Given the description of an element on the screen output the (x, y) to click on. 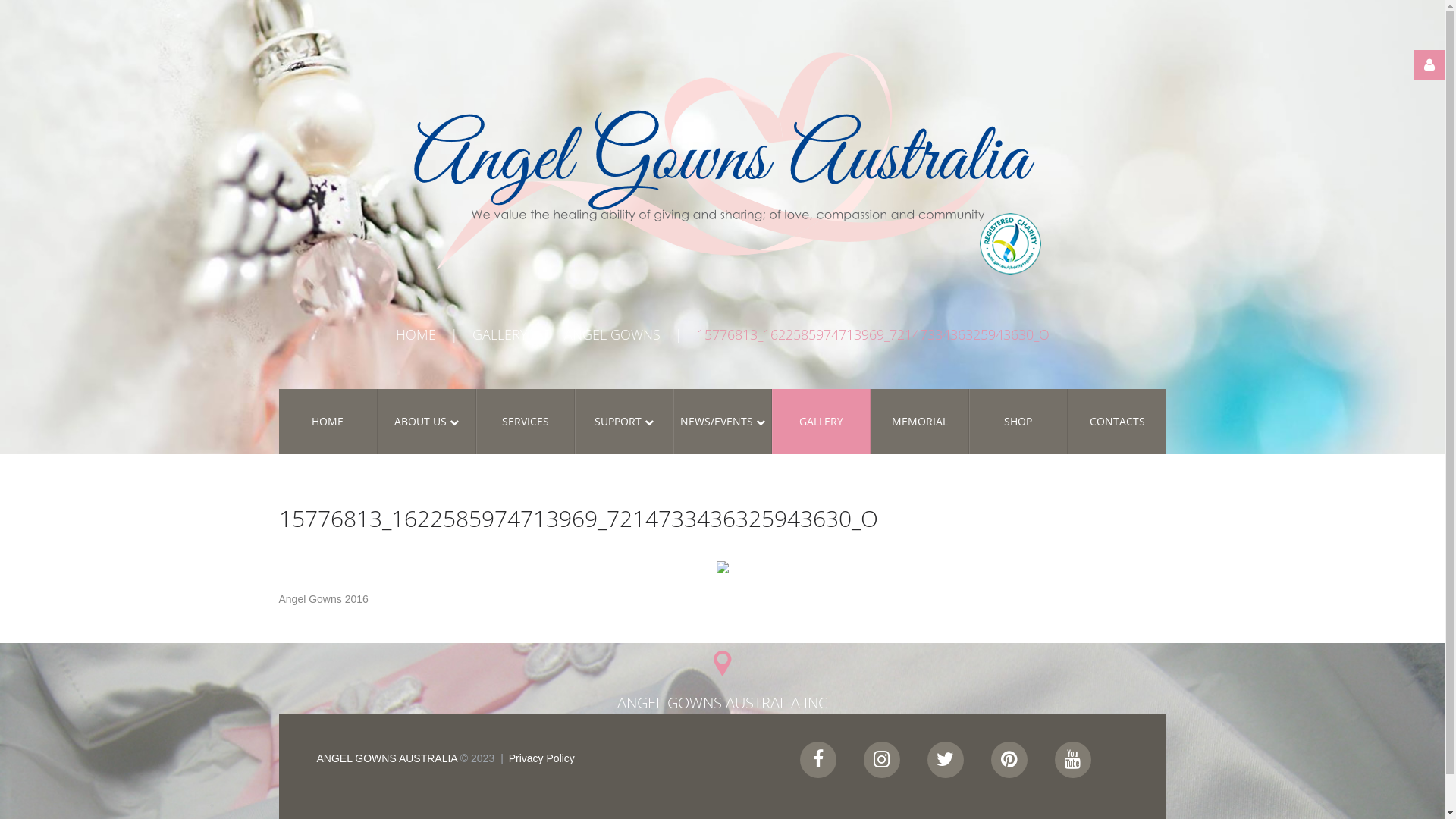
Facebook Element type: hover (817, 759)
pinterest Element type: hover (1008, 759)
Twitter Element type: hover (944, 759)
INSTAGRAM Element type: hover (880, 759)
NEWS/EVENTS Element type: text (722, 421)
HOME Element type: text (328, 421)
GALLERY Element type: text (499, 334)
CONTACTS Element type: text (1116, 421)
SHOP Element type: text (1018, 421)
ANGEL GOWNS Element type: text (612, 334)
GALLERY Element type: text (820, 421)
ABOUT US Element type: text (426, 421)
HOME Element type: text (415, 334)
youtube Element type: hover (1072, 759)
MEMORIAL Element type: text (919, 421)
SUPPORT Element type: text (623, 421)
Privacy Policy Element type: text (541, 758)
SERVICES Element type: text (525, 421)
